Given the description of an element on the screen output the (x, y) to click on. 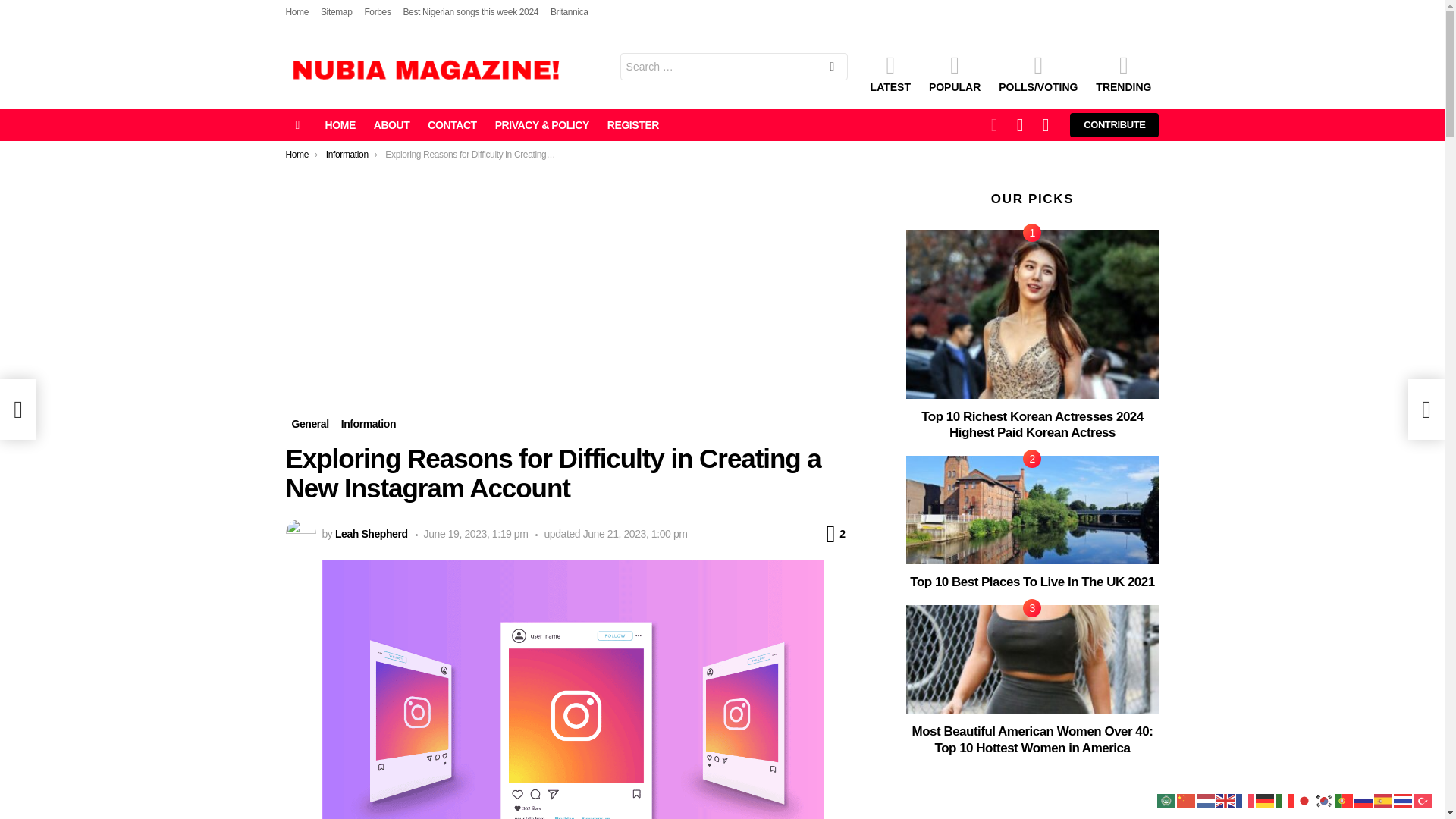
CONTRIBUTE (1114, 125)
Posts by Leah Shepherd (370, 533)
Advertisement (572, 303)
LATEST (890, 73)
Home (296, 12)
CONTACT (451, 124)
Search for: (733, 66)
Menu (296, 125)
Sitemap (336, 12)
REGISTER (632, 124)
TRENDING (1122, 73)
SEARCH (831, 68)
Best Nigerian songs this week 2024 (470, 12)
POPULAR (954, 73)
